Given the description of an element on the screen output the (x, y) to click on. 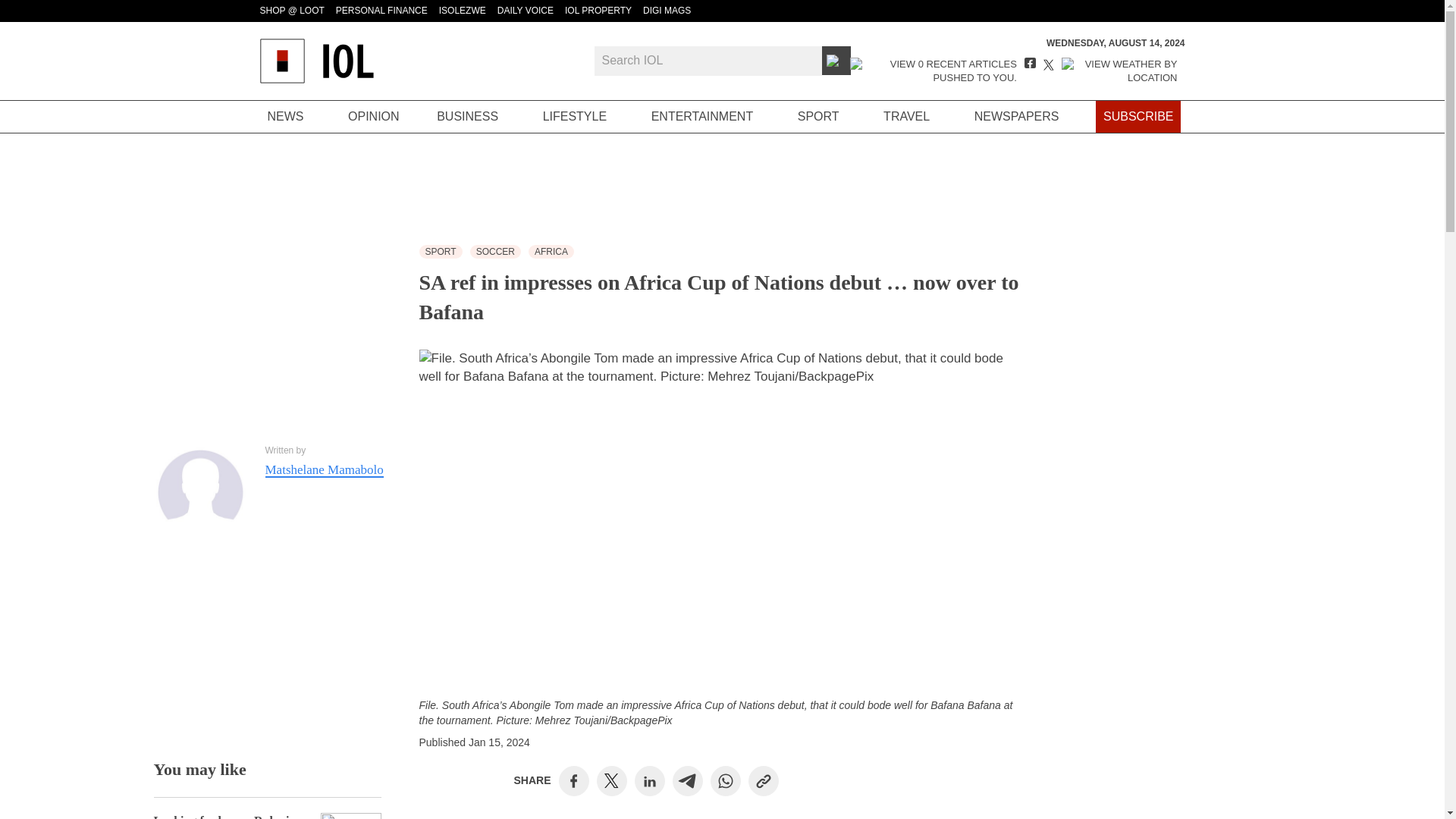
Share on LinkedIn (648, 780)
Copy to Clipboard (763, 780)
Share on WhatsApp (725, 780)
Share on Telegram (686, 780)
Share on Facebook (573, 780)
Share on Twitter (611, 780)
